Given the description of an element on the screen output the (x, y) to click on. 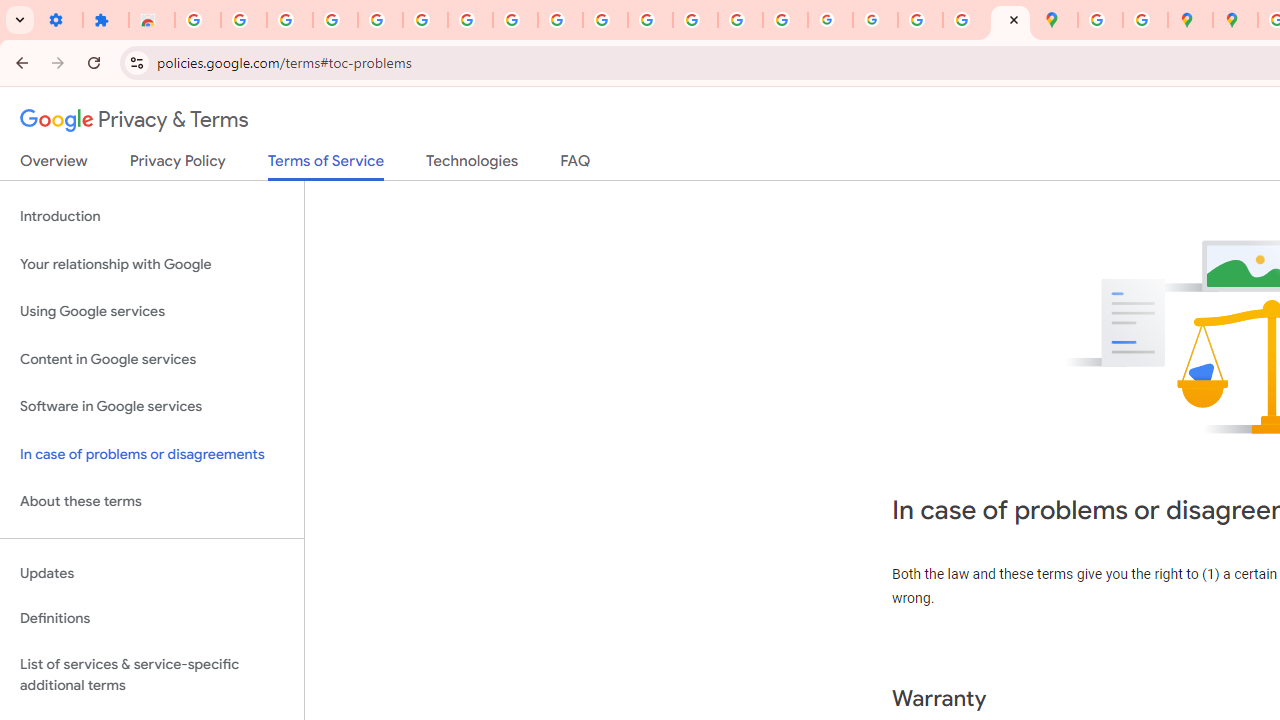
https://scholar.google.com/ (650, 20)
Delete photos & videos - Computer - Google Photos Help (290, 20)
Settings - On startup (60, 20)
Sign in - Google Accounts (425, 20)
Safety in Our Products - Google Safety Center (1145, 20)
